Given the description of an element on the screen output the (x, y) to click on. 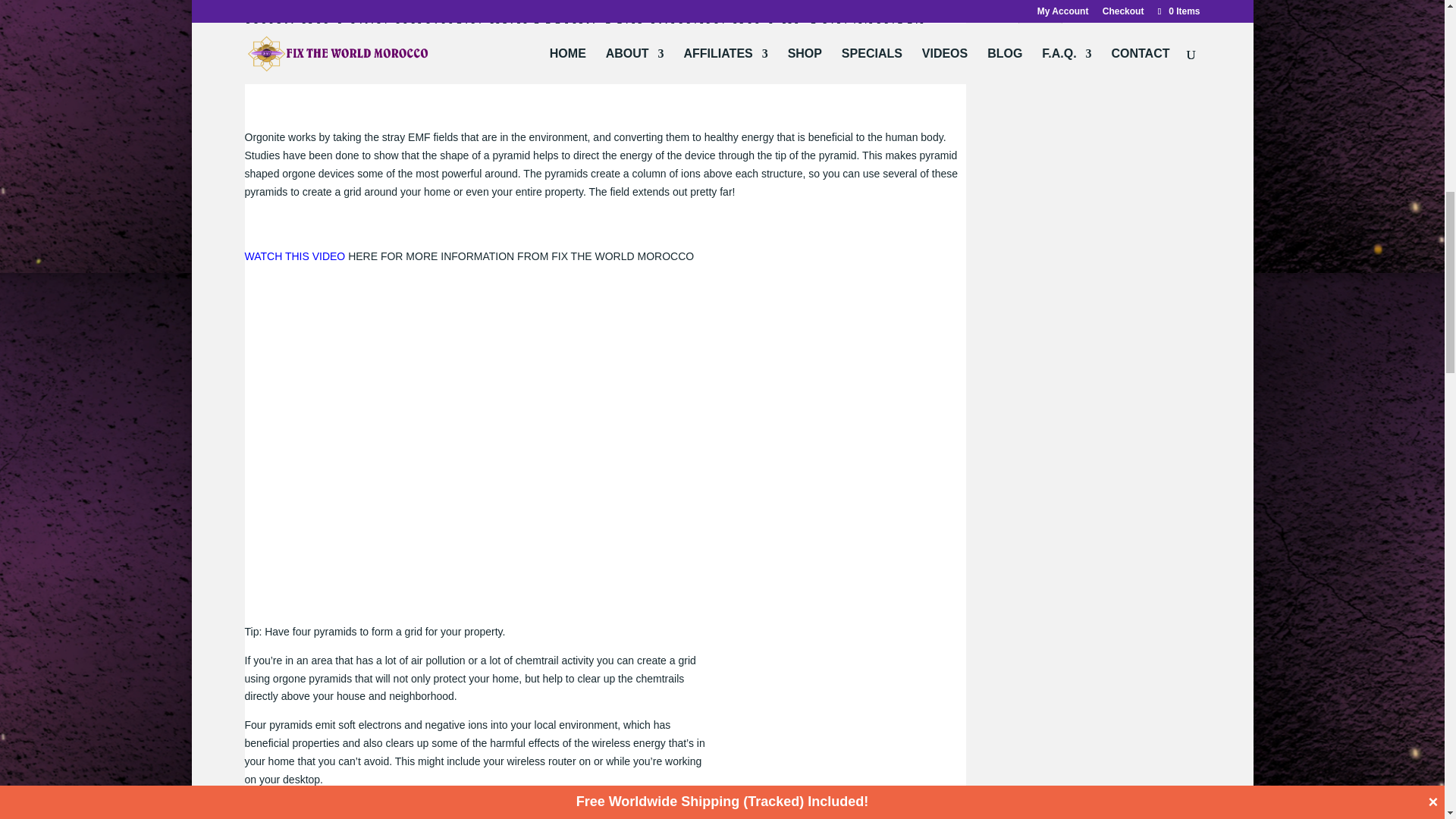
Posts by FTWinstagram (294, 71)
